Given the description of an element on the screen output the (x, y) to click on. 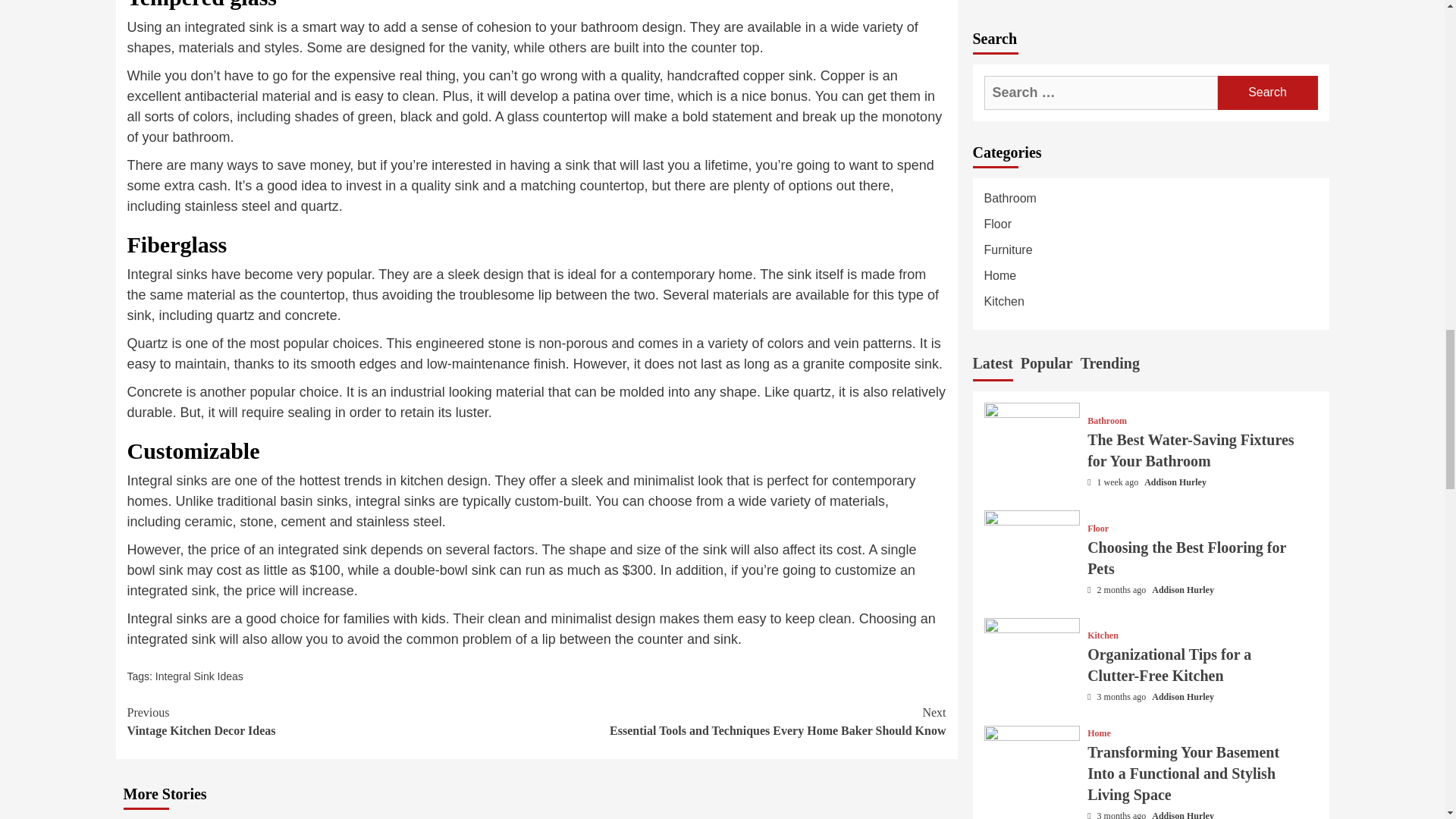
Integral Sink Ideas (332, 721)
